Given the description of an element on the screen output the (x, y) to click on. 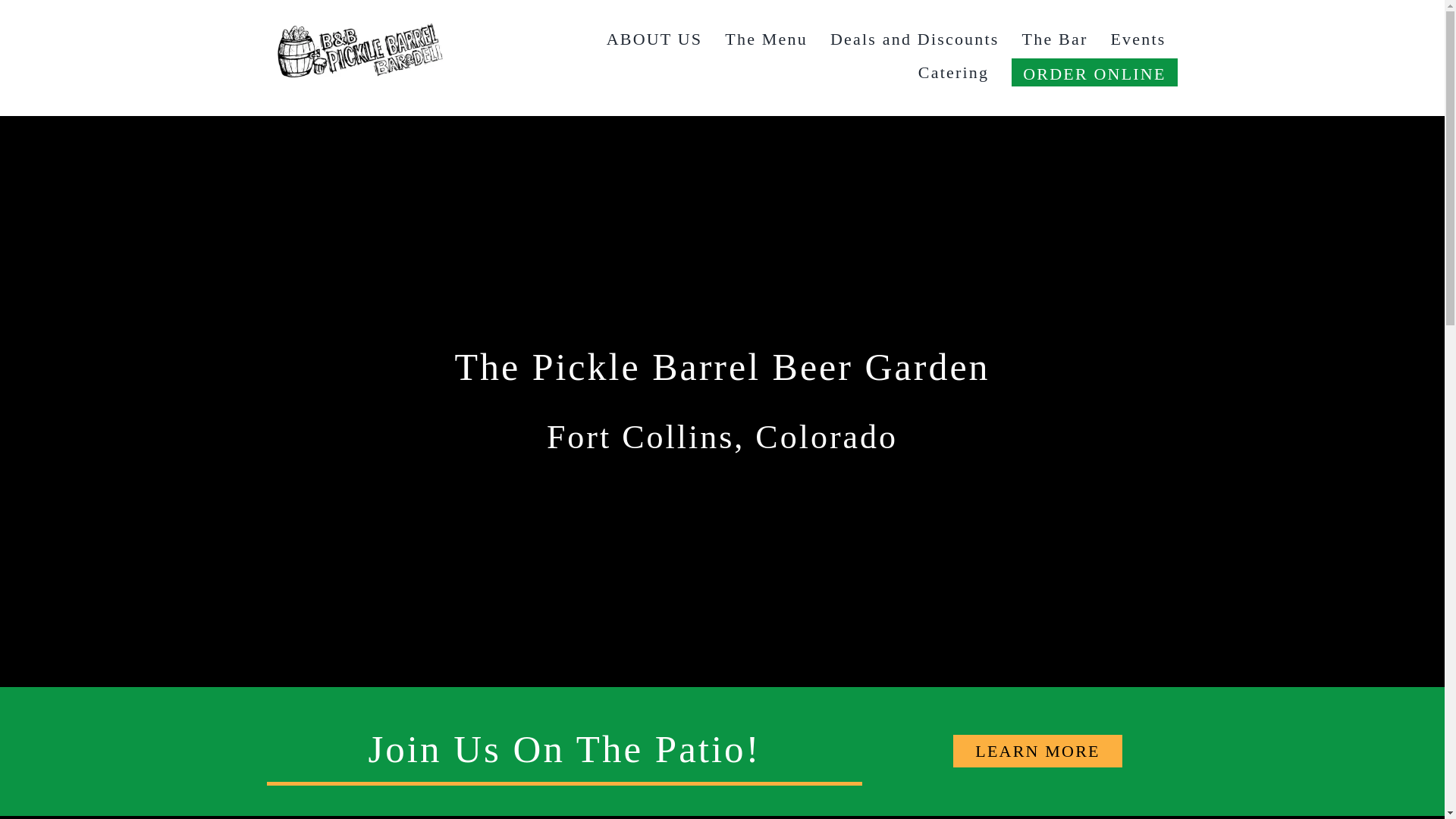
ABOUT US (654, 39)
LEARN MORE (1037, 750)
The Bar (1054, 39)
Deals and Discounts (914, 39)
The Menu (765, 39)
ORDER ONLINE (1093, 72)
Events (1137, 39)
Catering (953, 72)
